Given the description of an element on the screen output the (x, y) to click on. 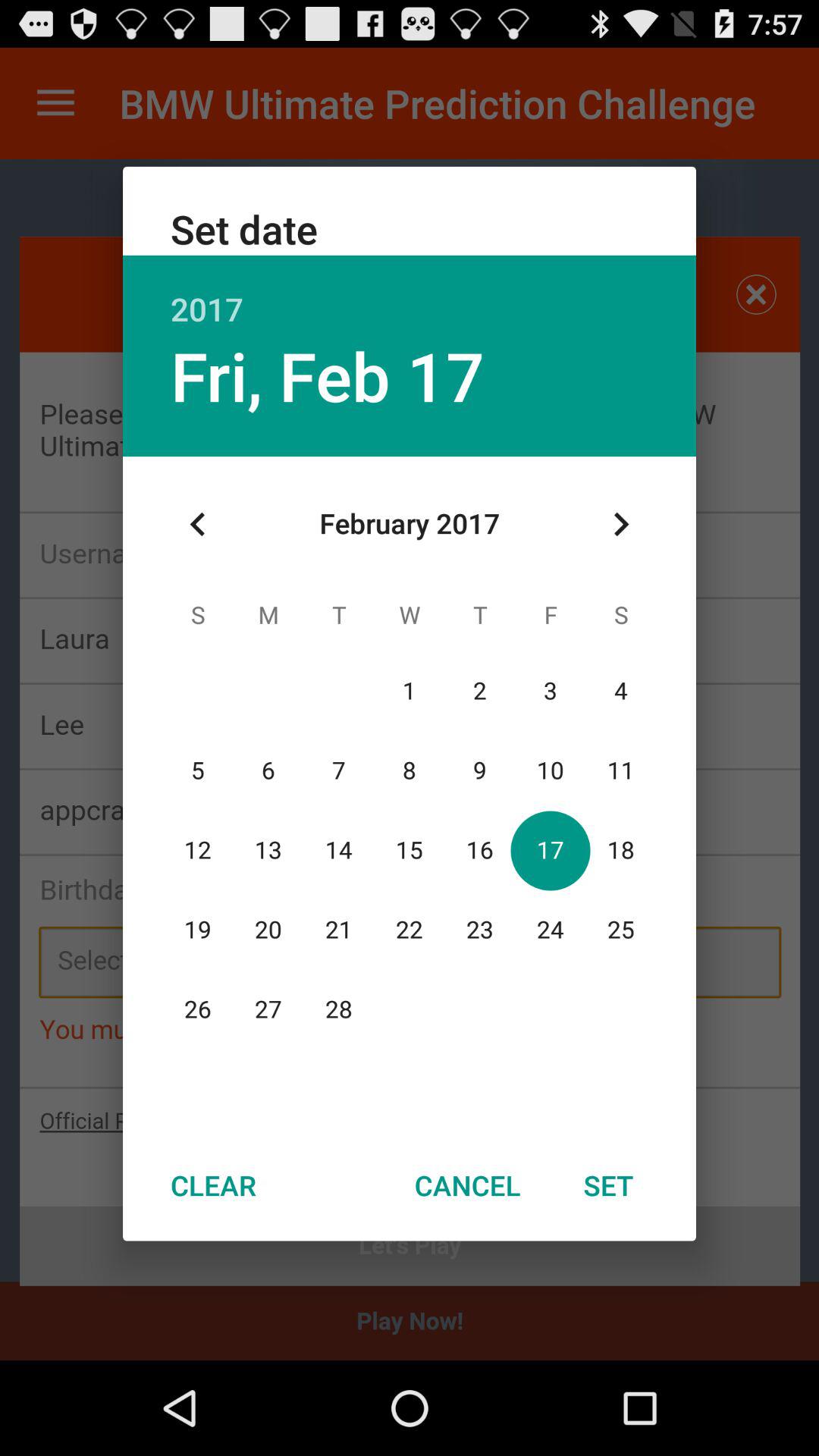
select the 2017 item (409, 292)
